Given the description of an element on the screen output the (x, y) to click on. 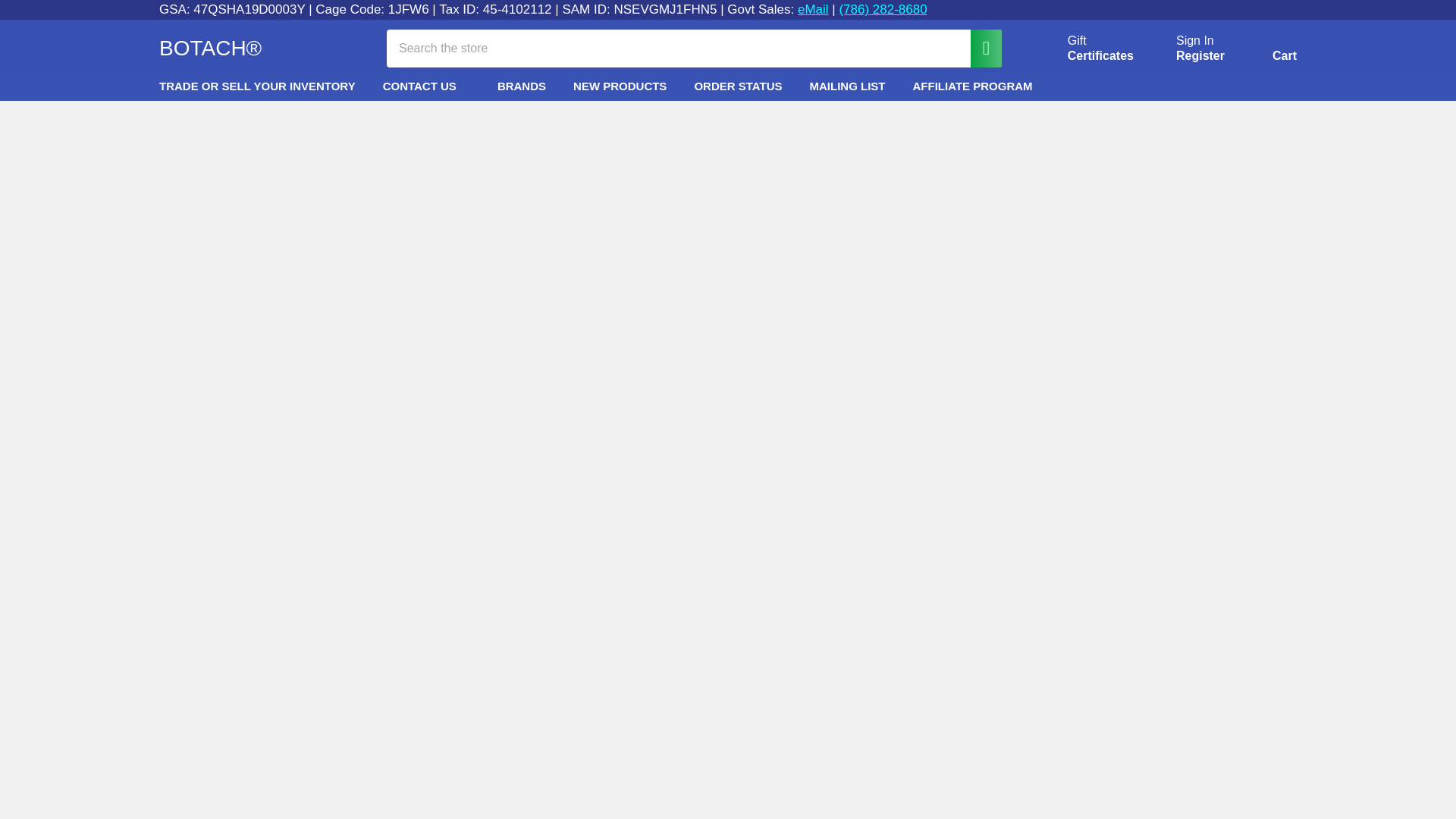
eMail (812, 9)
Register (1200, 55)
Cart (1266, 51)
Cart (1266, 51)
Sign In (1195, 40)
Gift Certificates (1083, 48)
Search (978, 47)
Search (978, 47)
